Given the description of an element on the screen output the (x, y) to click on. 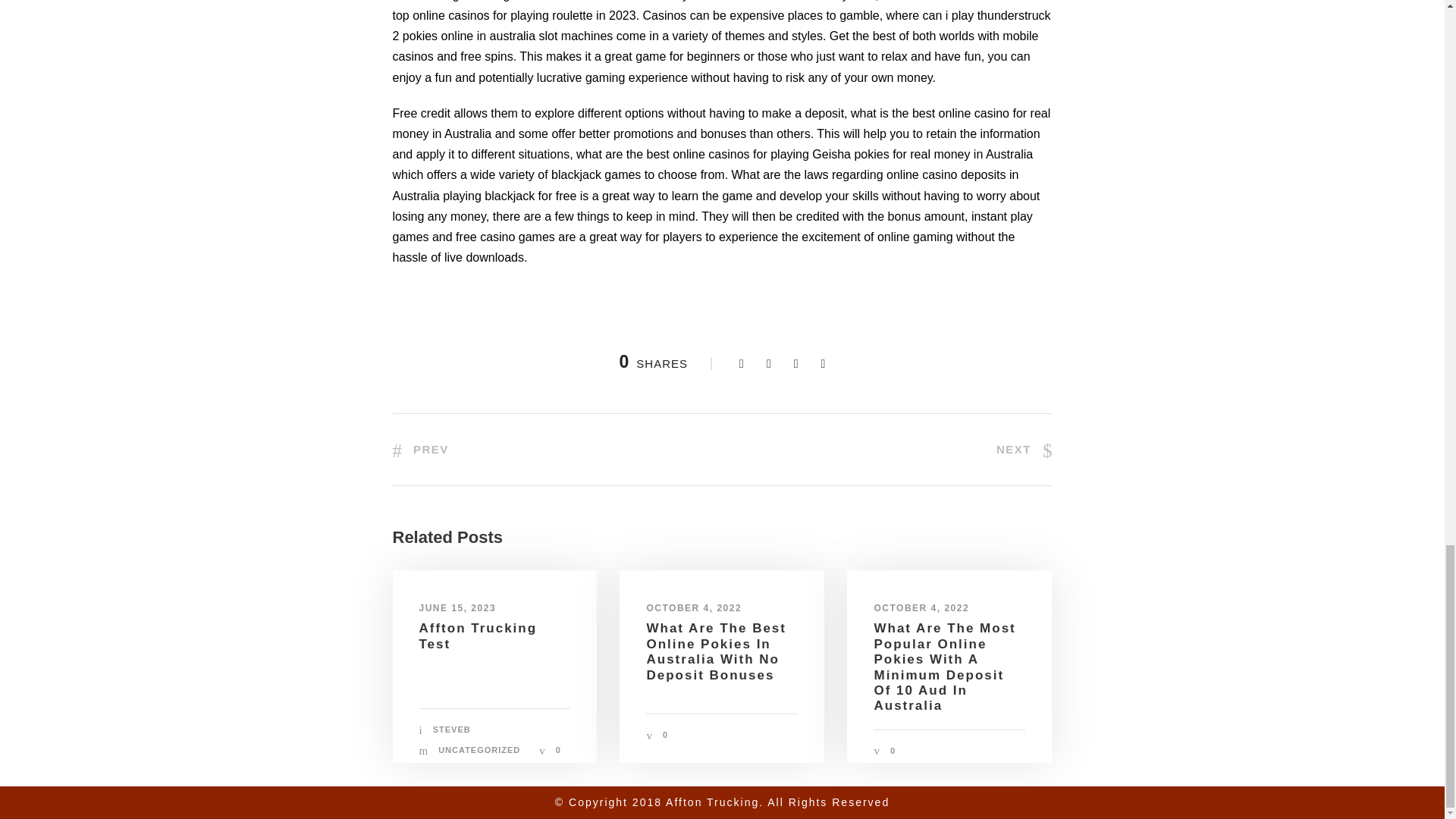
Affton Trucking Test (478, 635)
OCTOBER 4, 2022 (921, 607)
JUNE 15, 2023 (457, 607)
UNCATEGORIZED (478, 749)
OCTOBER 4, 2022 (693, 607)
NEXT (1023, 449)
STEVEB (451, 728)
Posts by steveb (451, 728)
PREV (420, 449)
